Given the description of an element on the screen output the (x, y) to click on. 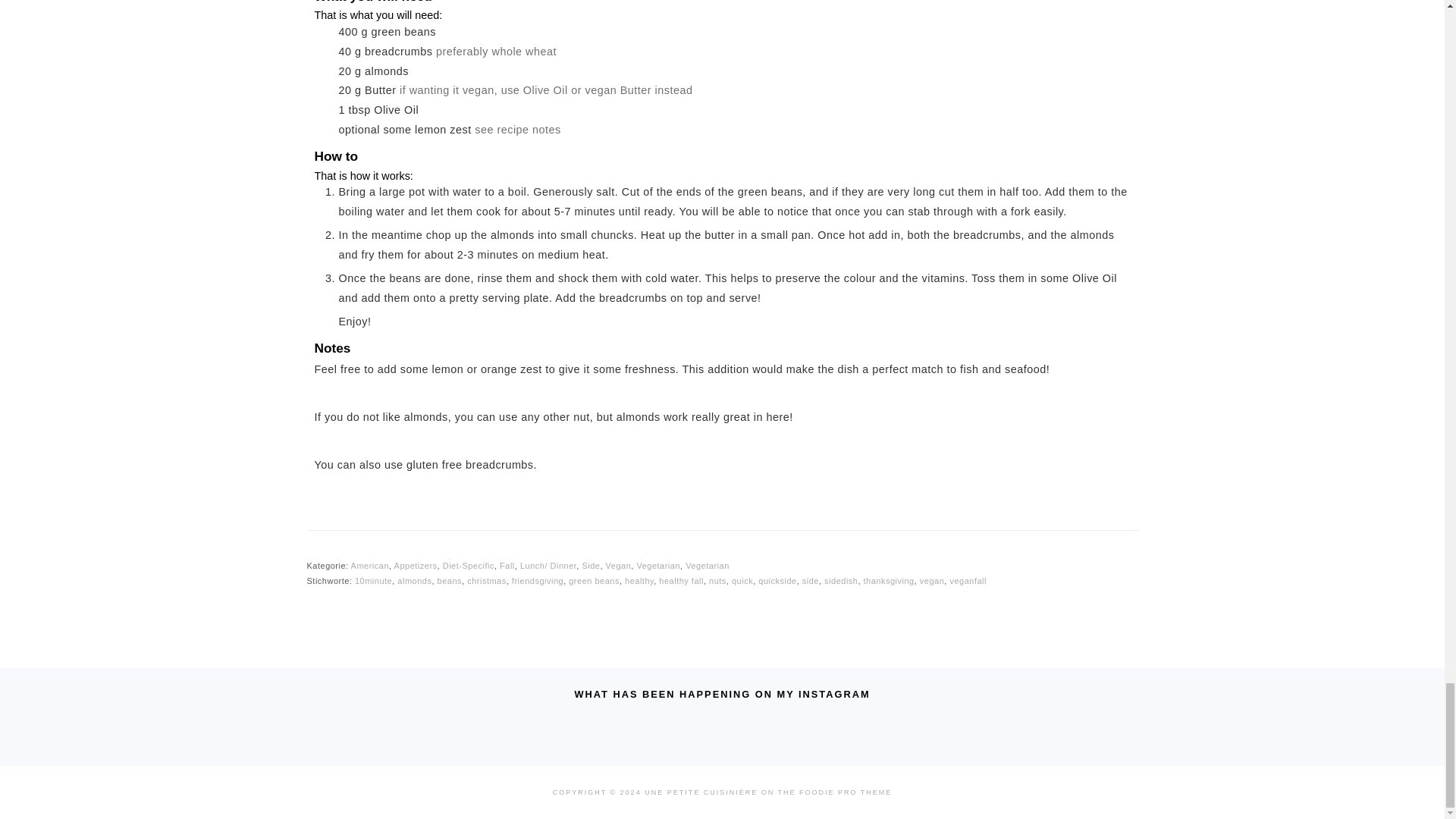
Side (589, 565)
healthy (638, 580)
almonds (413, 580)
thanksgiving (888, 580)
friendsgiving (537, 580)
sidedish (840, 580)
green beans (594, 580)
vegan (931, 580)
nuts (717, 580)
quickside (777, 580)
Vegan (618, 565)
healthy fall (681, 580)
Diet-Specific (468, 565)
quick (742, 580)
10minute (373, 580)
